Given the description of an element on the screen output the (x, y) to click on. 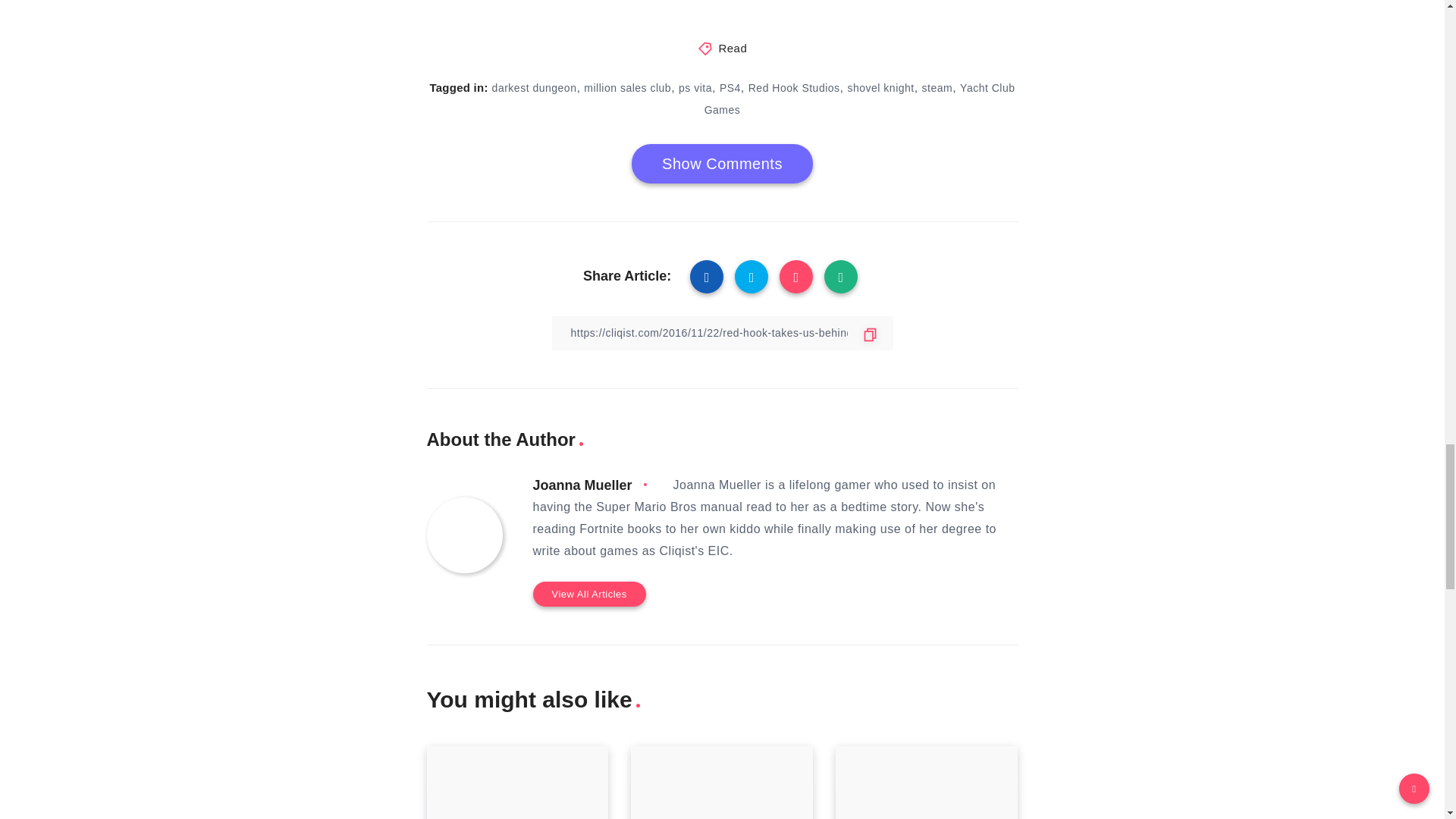
View All Articles (588, 593)
Yacht Club Games (859, 98)
darkest dungeon (534, 87)
PS4 (730, 87)
Read (731, 47)
Show Comments (721, 163)
Joanna Mueller (581, 485)
ps vita (694, 87)
shovel knight (880, 87)
Red Hook Studios (794, 87)
